Given the description of an element on the screen output the (x, y) to click on. 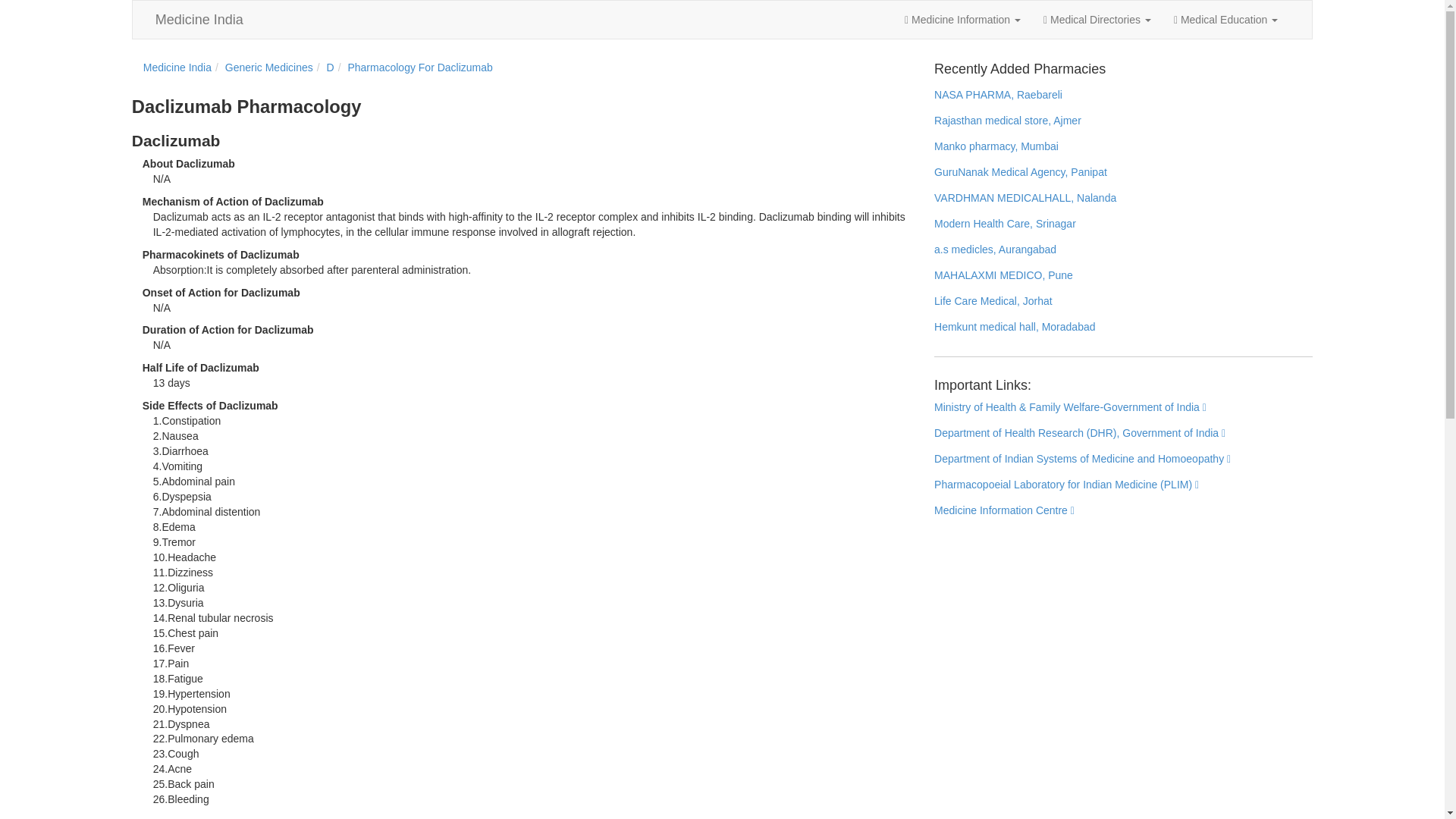
Medicine Information Centre (1004, 510)
Medicine India (176, 67)
a.s medicles, Aurangabad (995, 249)
Modern Health Care, Srinagar (1004, 223)
Generic Medicines (269, 67)
MAHALAXMI MEDICO, Pune (1003, 275)
GuruNanak Medical Agency, Panipat (1020, 172)
Rajasthan medical store, Ajmer (1007, 120)
Medical Directories (1096, 19)
NASA PHARMA, Raebareli (998, 94)
